Given the description of an element on the screen output the (x, y) to click on. 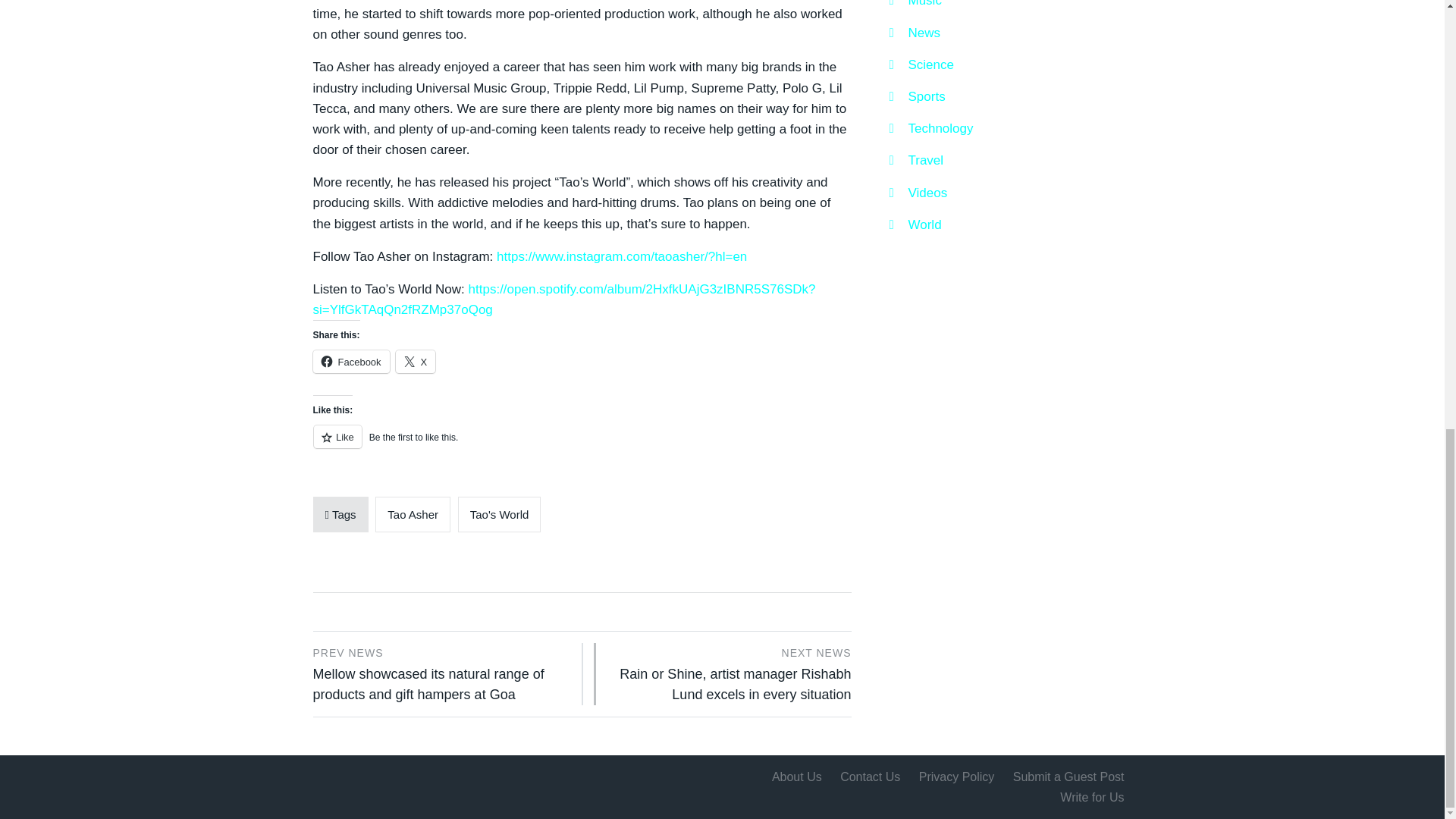
Like or Reblog (581, 445)
Facebook (350, 361)
Click to share on X (415, 361)
Tao Asher (412, 514)
Click to share on Facebook (350, 361)
X (415, 361)
Tao's World (499, 514)
